Given the description of an element on the screen output the (x, y) to click on. 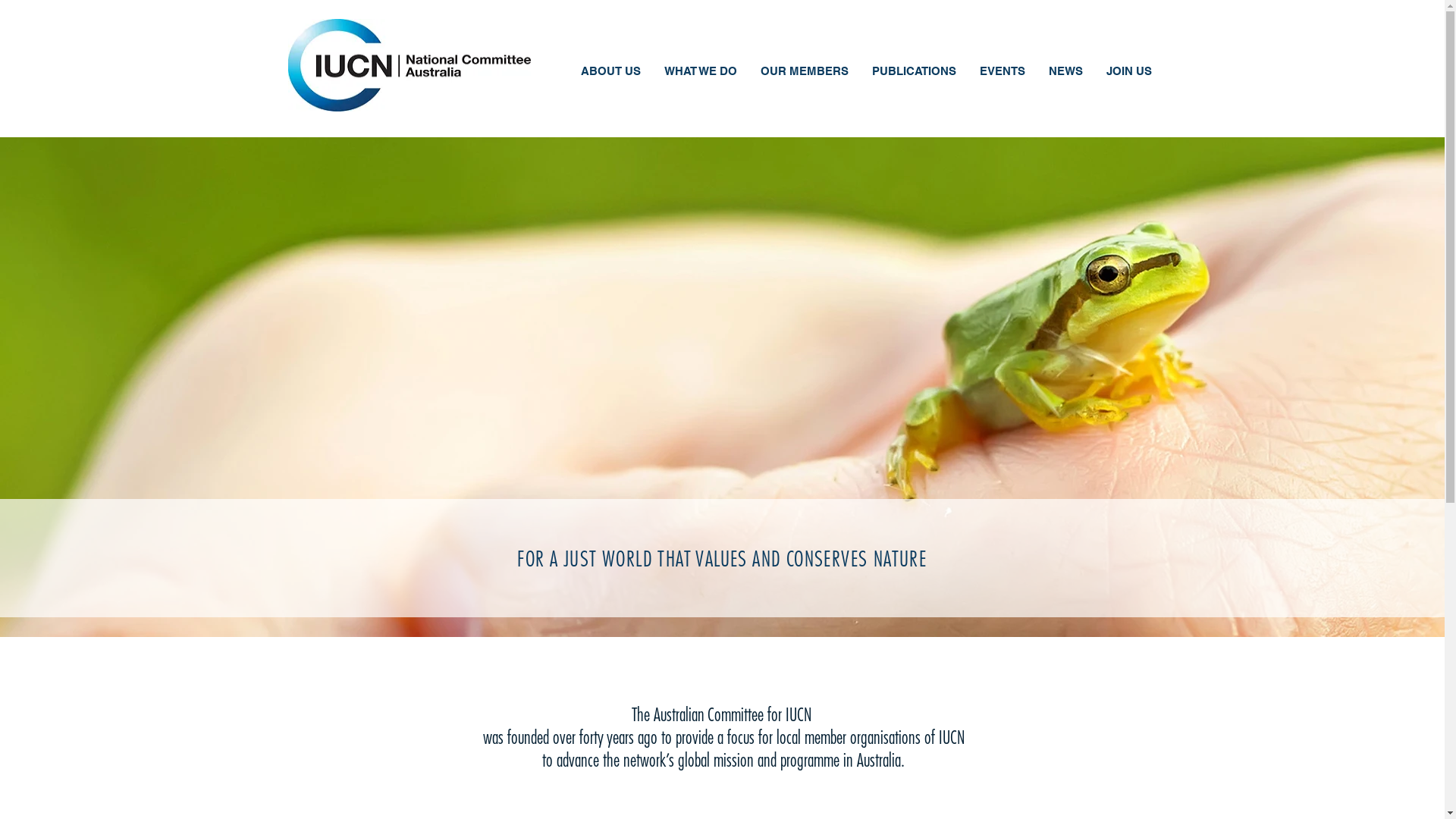
NEWS Element type: text (1064, 72)
EVENTS Element type: text (1001, 72)
WHAT WE DO Element type: text (700, 72)
PUBLICATIONS Element type: text (913, 72)
JOIN US Element type: text (1127, 72)
OUR MEMBERS Element type: text (803, 72)
ABOUT US Element type: text (609, 72)
